Given the description of an element on the screen output the (x, y) to click on. 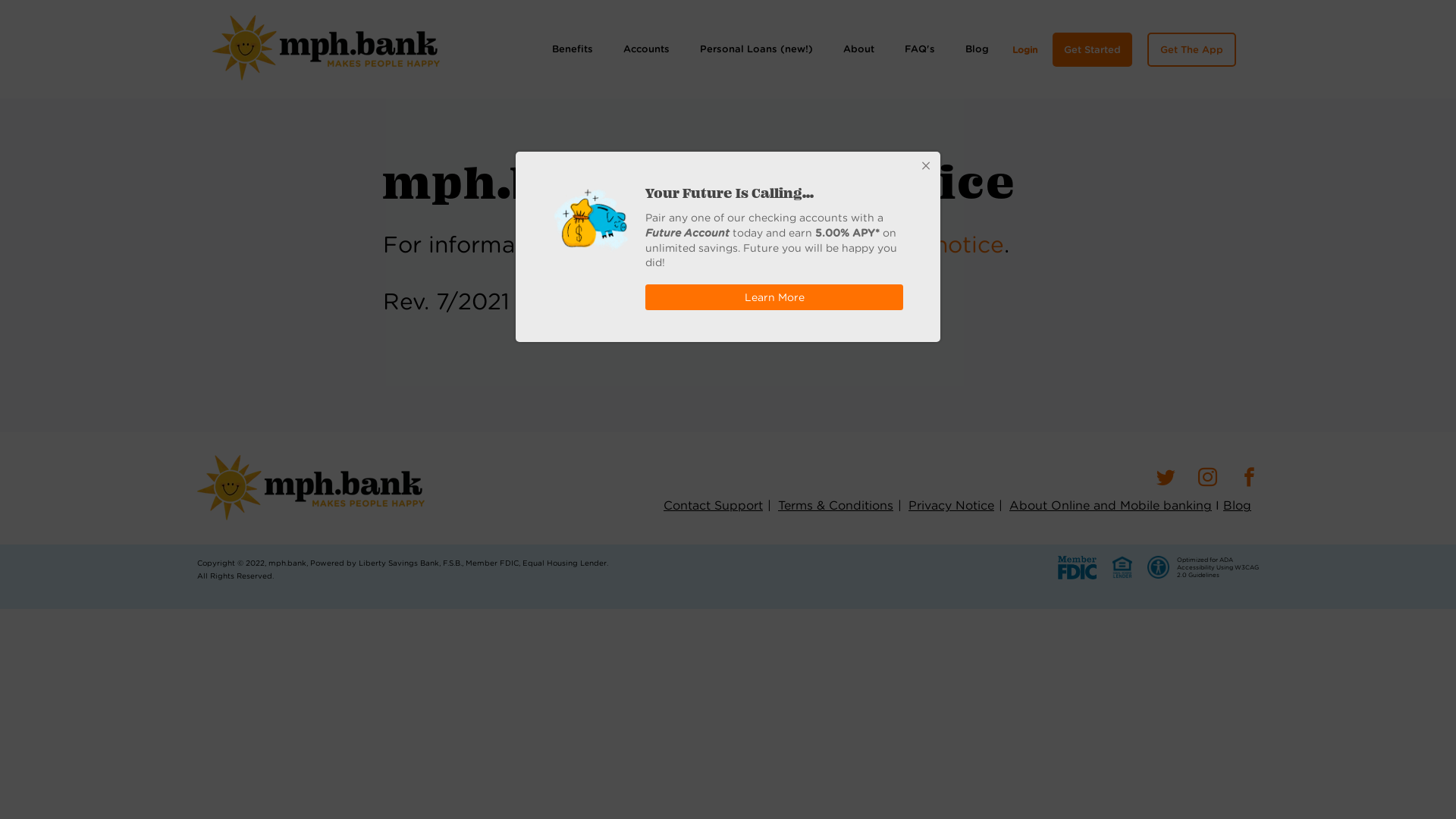
consumer privacy notice Element type: text (865, 243)
Lender Element type: hover (1121, 566)
FAQ's Element type: text (919, 49)
Liberty Savings Bank Element type: text (398, 562)
ADA Element type: hover (1158, 566)
Learn More Element type: text (774, 297)
Blog Element type: text (976, 49)
About Online and Mobile banking Element type: text (1110, 505)
Accounts Element type: text (646, 49)
Contact Support Element type: text (712, 505)
Benefits Element type: text (572, 49)
Login Element type: text (1024, 49)
Personal Loans (new!) Element type: text (755, 49)
Get The App Element type: text (1191, 49)
FDIC Element type: hover (1076, 566)
About Element type: text (858, 49)
Privacy Notice Element type: text (951, 505)
Blog Element type: text (1237, 505)
Terms & Conditions Element type: text (835, 505)
Mph bank Element type: hover (310, 487)
Mph bank Element type: hover (325, 47)
Get Started Element type: text (1092, 49)
